Given the description of an element on the screen output the (x, y) to click on. 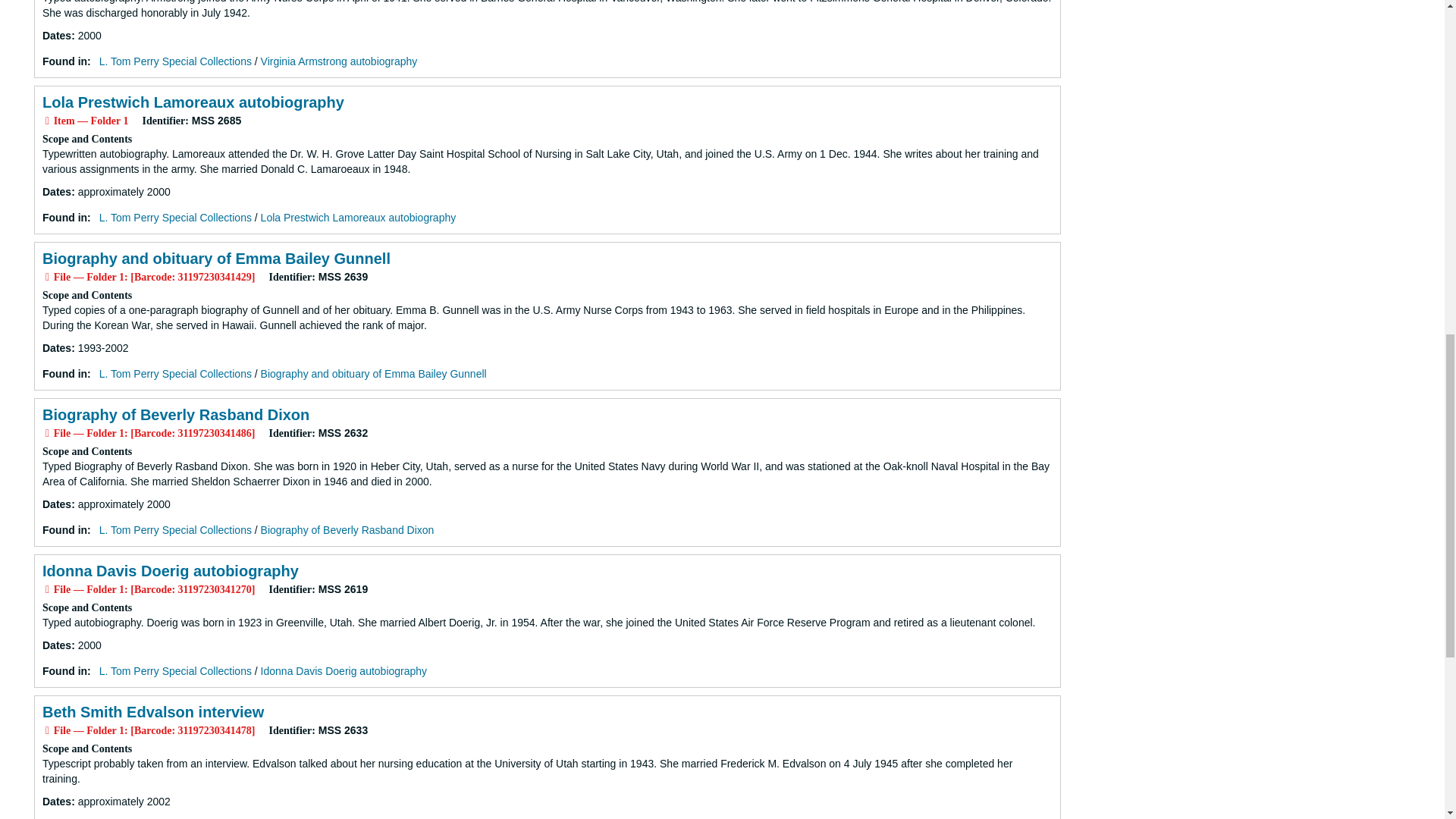
L. Tom Perry Special Collections (175, 61)
Idonna Davis Doerig autobiography (343, 671)
L. Tom Perry Special Collections (175, 217)
Virginia Armstrong autobiography (338, 61)
translation missing: en.dates (56, 347)
Biography of Beverly Rasband Dixon (175, 414)
L. Tom Perry Special Collections (175, 373)
Beth Smith Edvalson interview (152, 711)
Lola Prestwich Lamoreaux autobiography (192, 102)
translation missing: en.dates (56, 35)
